Given the description of an element on the screen output the (x, y) to click on. 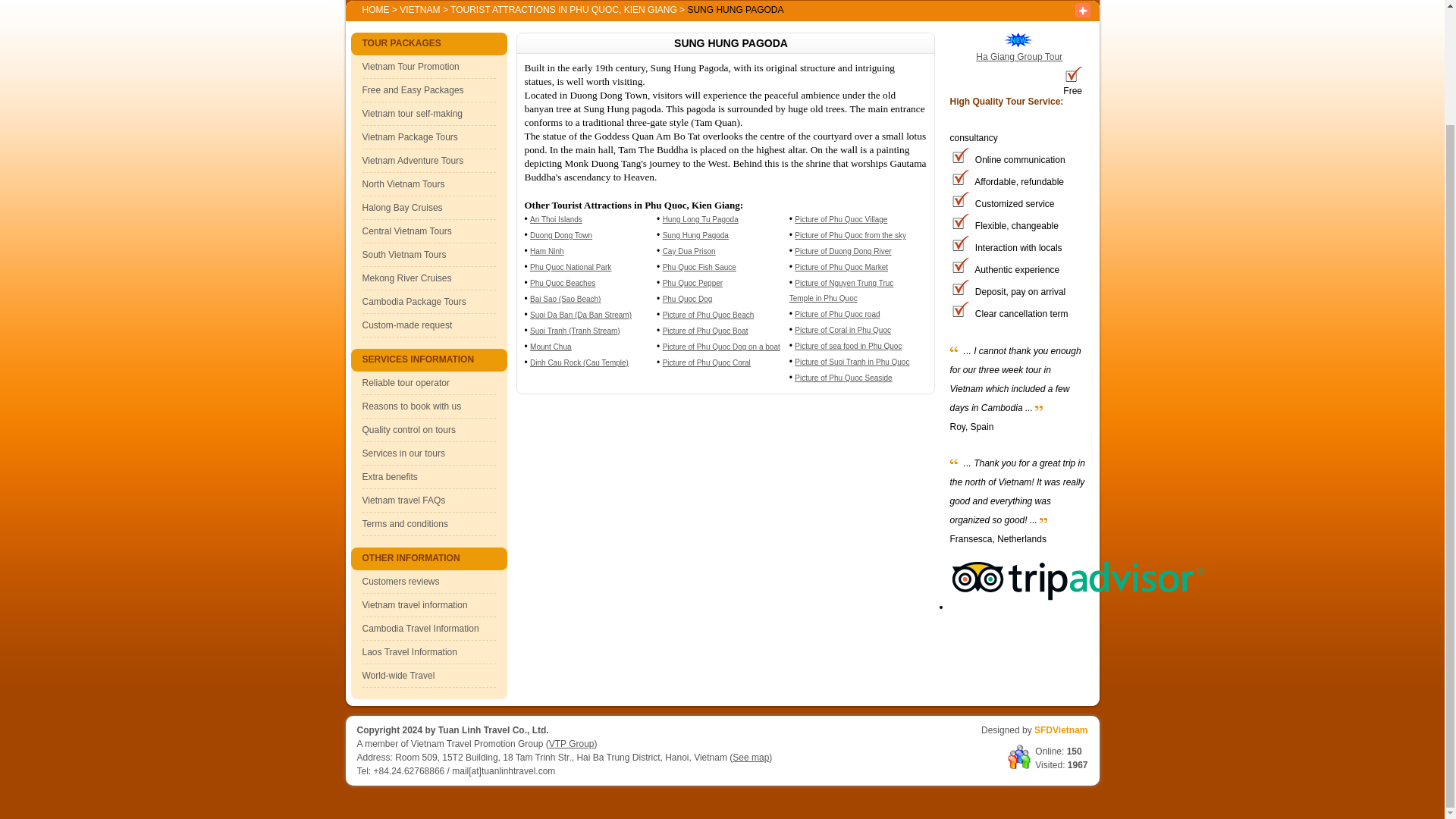
Reasons to book with us (411, 406)
TOURIST ATTRACTIONS IN PHU QUOC, KIEN GIANG (564, 9)
Reliable tour operator (405, 382)
Information about Free and Easy Packages (413, 90)
North Vietnam Tours (403, 184)
Vietnam travel FAQs (403, 500)
Information about Vietnam Adventure Tours (413, 160)
South Vietnam Tours (404, 254)
Services in our tours (403, 452)
Information about Central Vietnam Tours (406, 231)
